Given the description of an element on the screen output the (x, y) to click on. 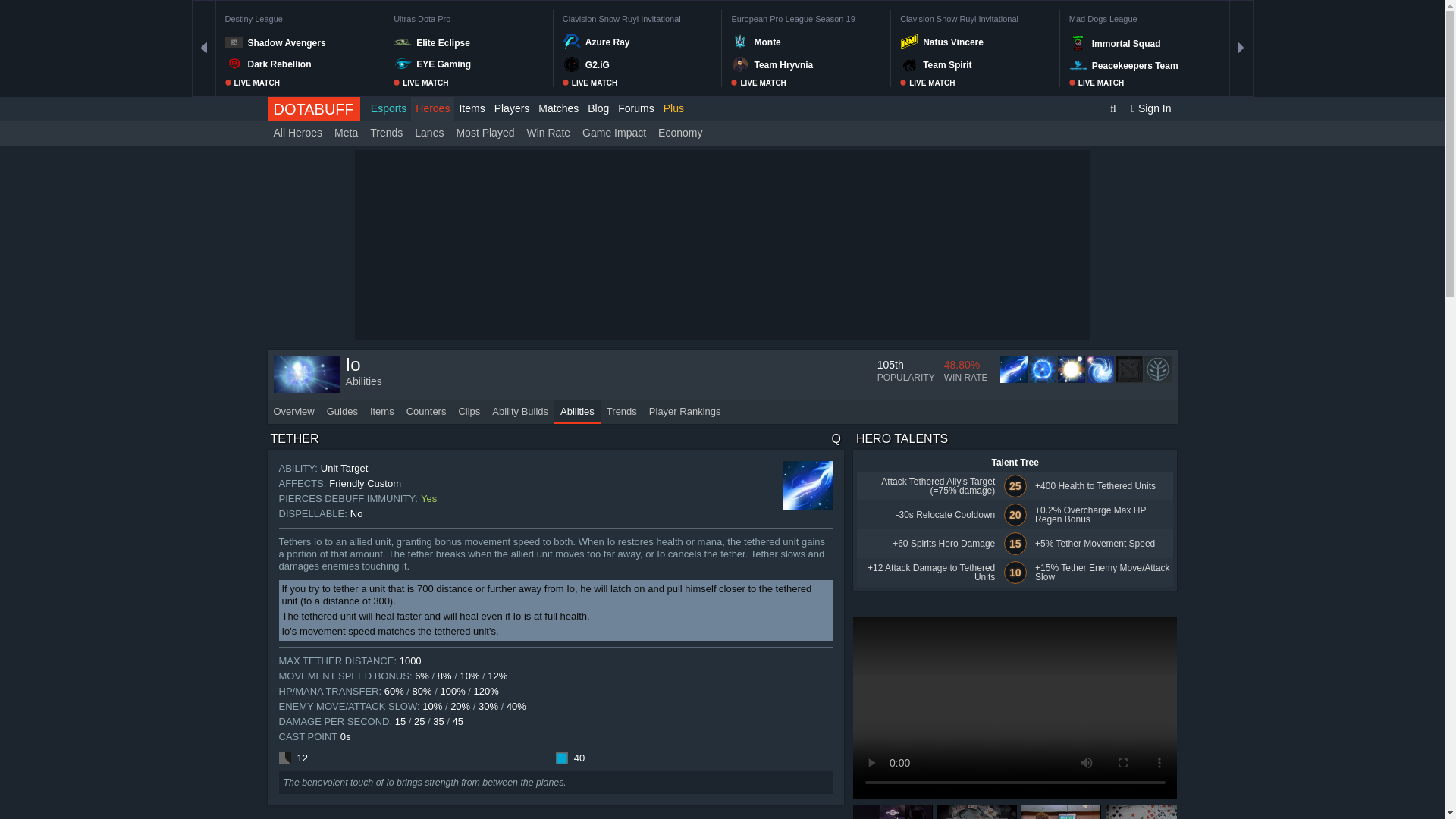
Team Spirit (986, 64)
Mad Dogs League (1144, 19)
Shadow Avengers (310, 42)
European Pro League Season 19 (805, 19)
Monte (817, 41)
Destiny League (299, 19)
Team Hryvnia (817, 64)
Clavision Snow Ruyi Invitational (974, 19)
Dark Rebellion (310, 63)
Elite Eclipse (479, 42)
Natus Vincere (986, 41)
Ultras Dota Pro (468, 19)
Immortal Squad (1156, 43)
G2.iG (649, 64)
